Given the description of an element on the screen output the (x, y) to click on. 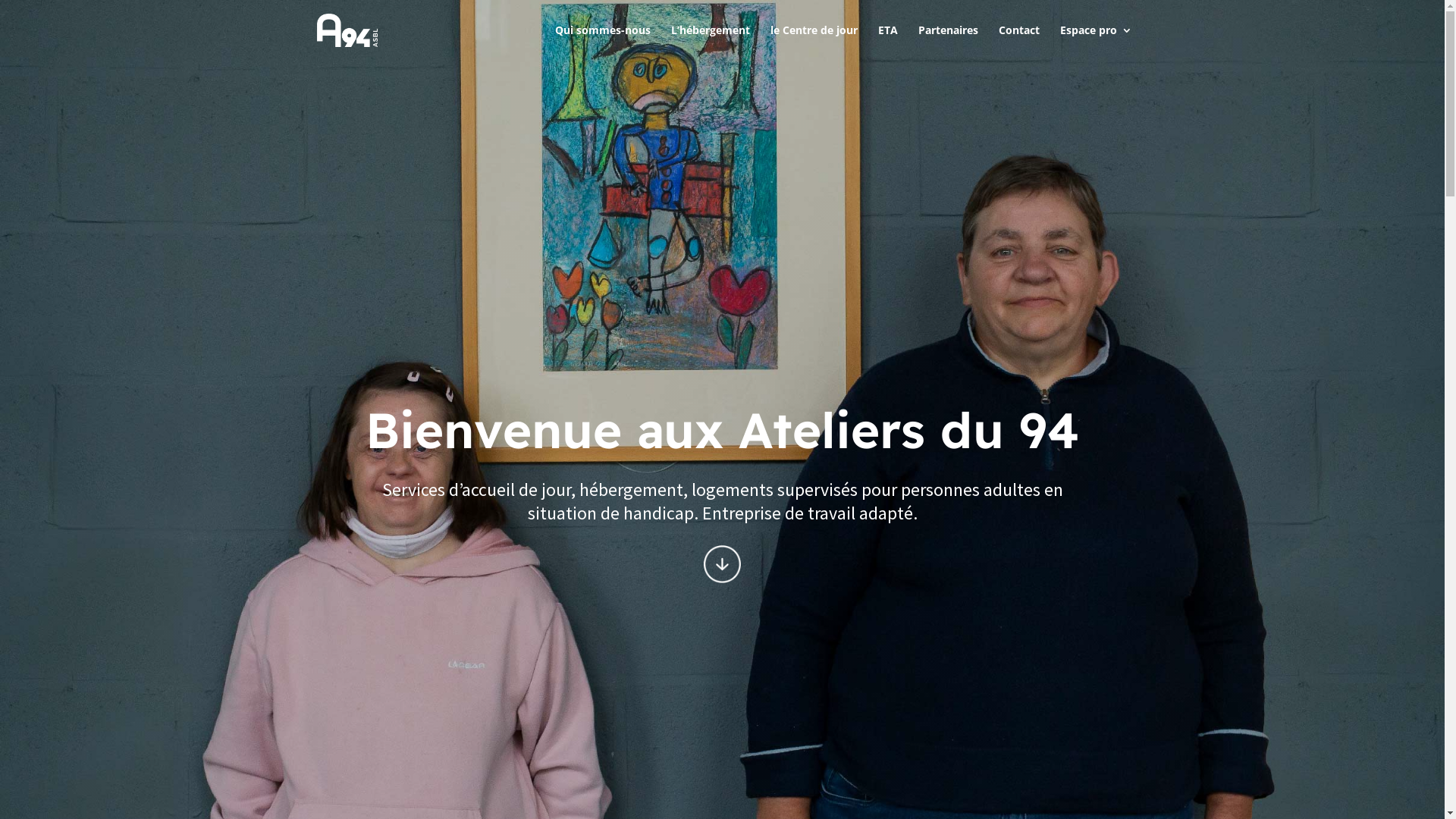
Contact Element type: text (1017, 42)
Partenaires Element type: text (947, 42)
ETA Element type: text (887, 42)
Espace pro Element type: text (1096, 42)
le Centre de jour Element type: text (813, 42)
Qui sommes-nous Element type: text (602, 42)
FlecheBAS Element type: hover (722, 564)
